Given the description of an element on the screen output the (x, y) to click on. 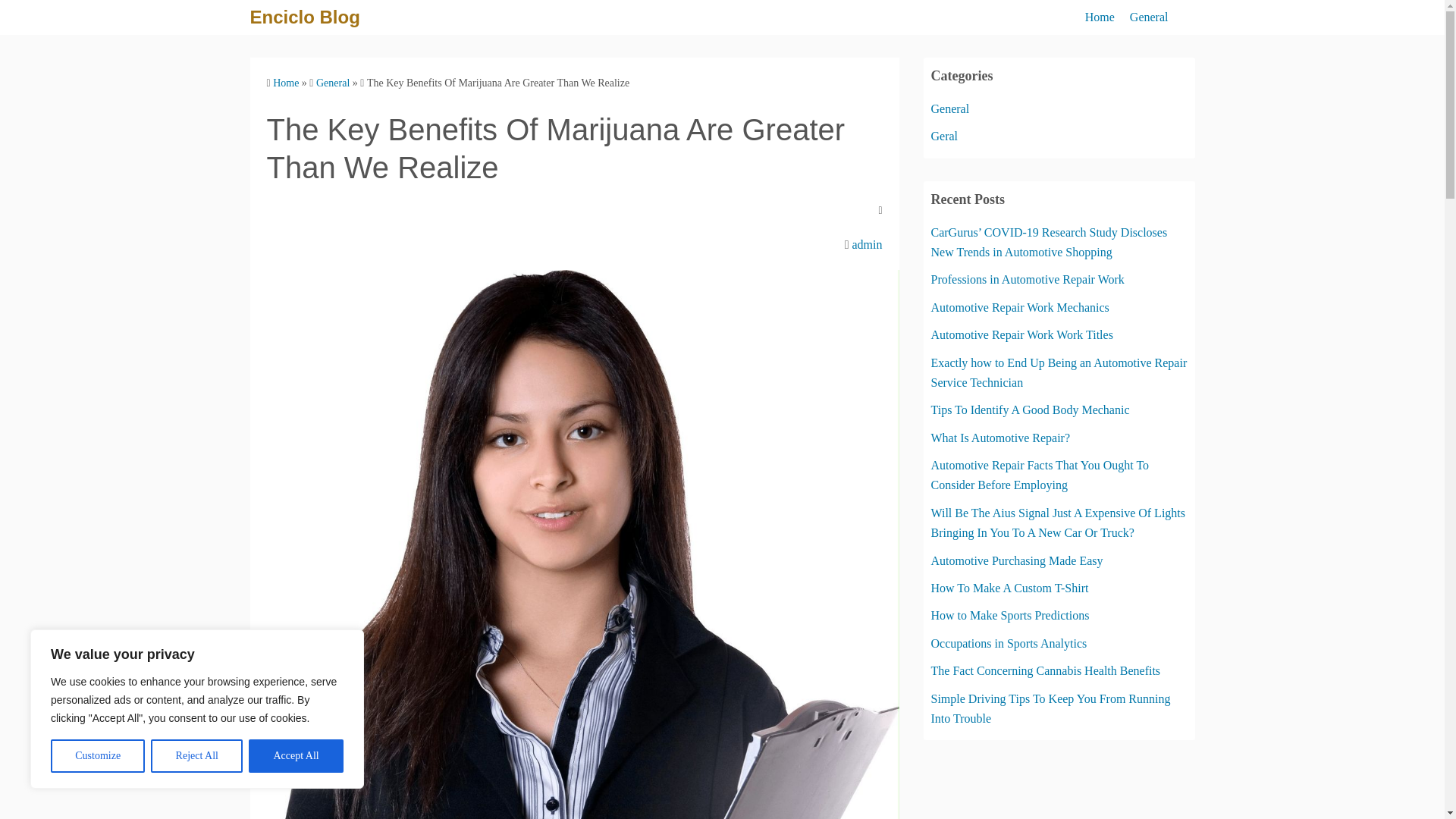
Geral (944, 135)
General (950, 108)
admin (866, 244)
Home (285, 82)
Customize (97, 756)
Reject All (197, 756)
Accept All (295, 756)
Enciclo Blog (304, 16)
General (1149, 17)
General (332, 82)
